Given the description of an element on the screen output the (x, y) to click on. 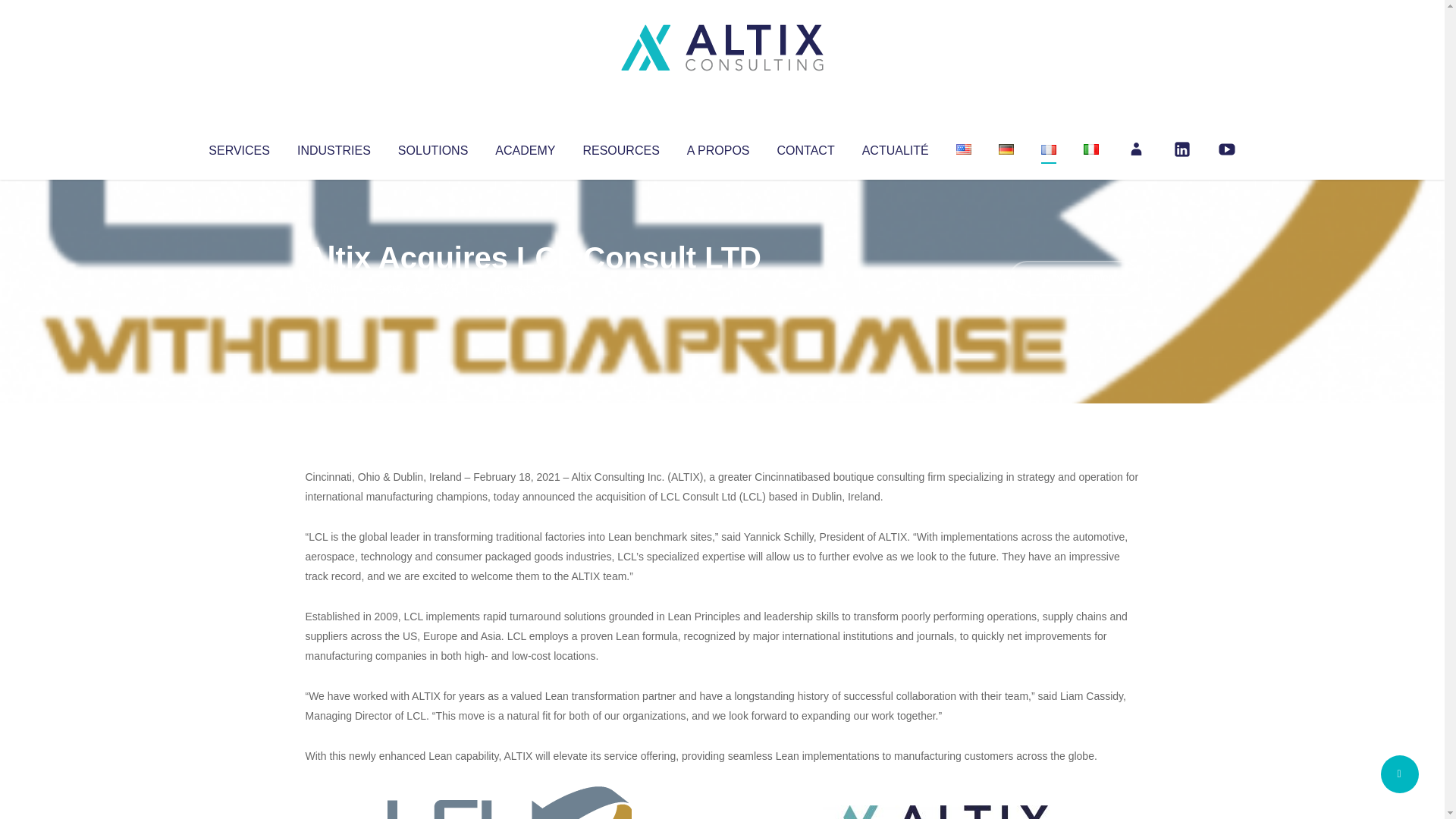
ACADEMY (524, 146)
SERVICES (238, 146)
RESOURCES (620, 146)
Altix (333, 287)
INDUSTRIES (334, 146)
Uncategorized (530, 287)
SOLUTIONS (432, 146)
Articles par Altix (333, 287)
A PROPOS (718, 146)
No Comments (1073, 278)
